Given the description of an element on the screen output the (x, y) to click on. 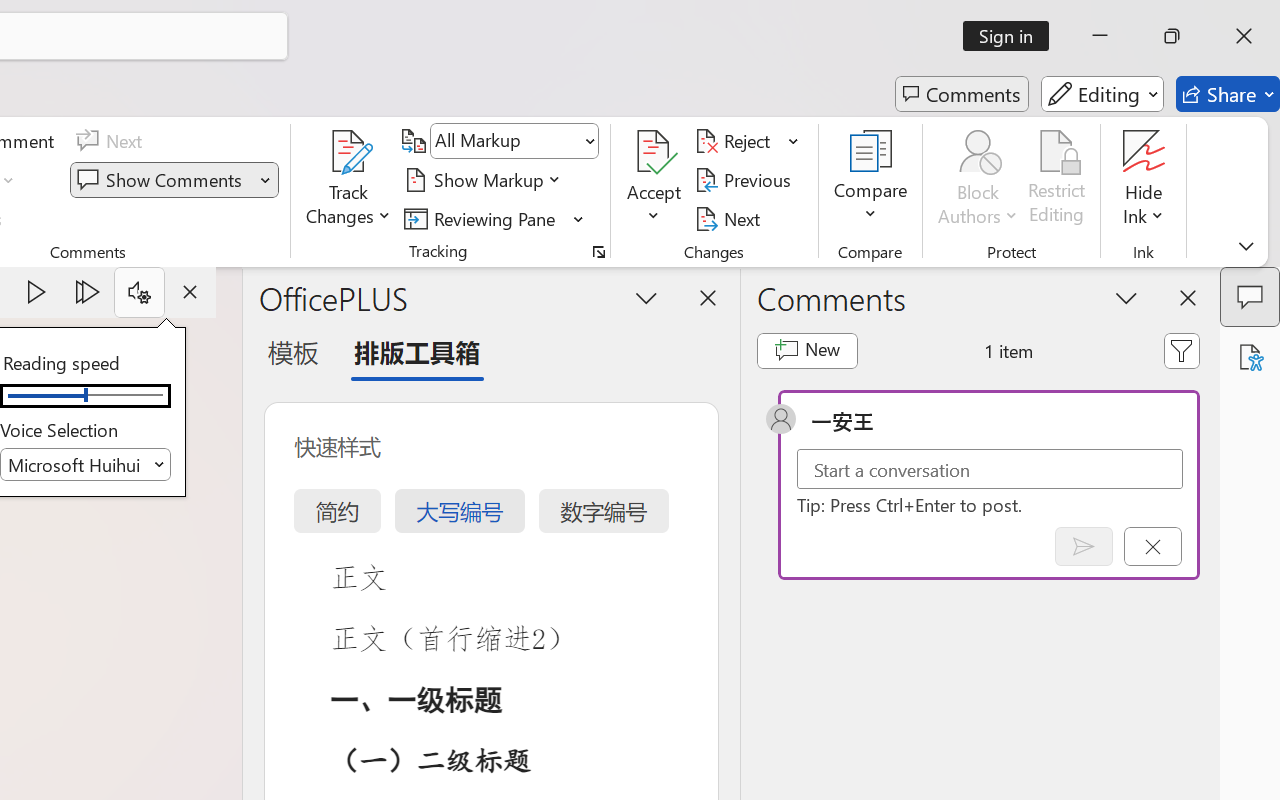
Reject (747, 141)
Play (36, 292)
Show Markup (485, 179)
Display for Review (514, 141)
Cancel (1152, 546)
Editing (1101, 94)
Reviewing Pane (494, 218)
Accept (653, 179)
Start a conversation (990, 468)
Accessibility Assistant (1249, 357)
Reading speed (85, 396)
New comment (806, 350)
